Given the description of an element on the screen output the (x, y) to click on. 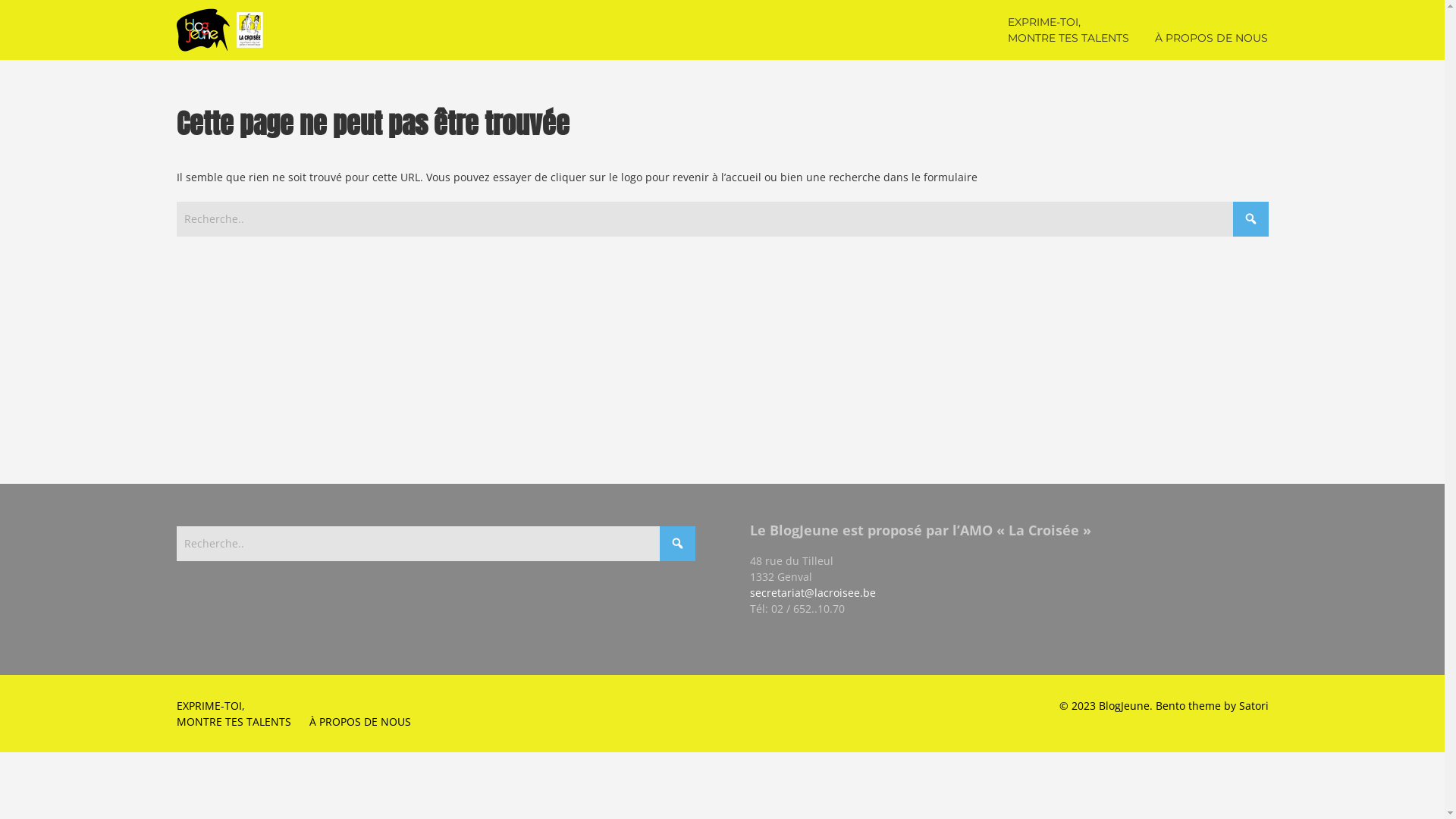
EXPRIME-TOI,
MONTRE TES TALENTS Element type: text (232, 713)
secretariat@lacroisee.be Element type: text (812, 592)
EXPRIME-TOI,
MONTRE TES TALENTS Element type: text (1068, 30)
